Given the description of an element on the screen output the (x, y) to click on. 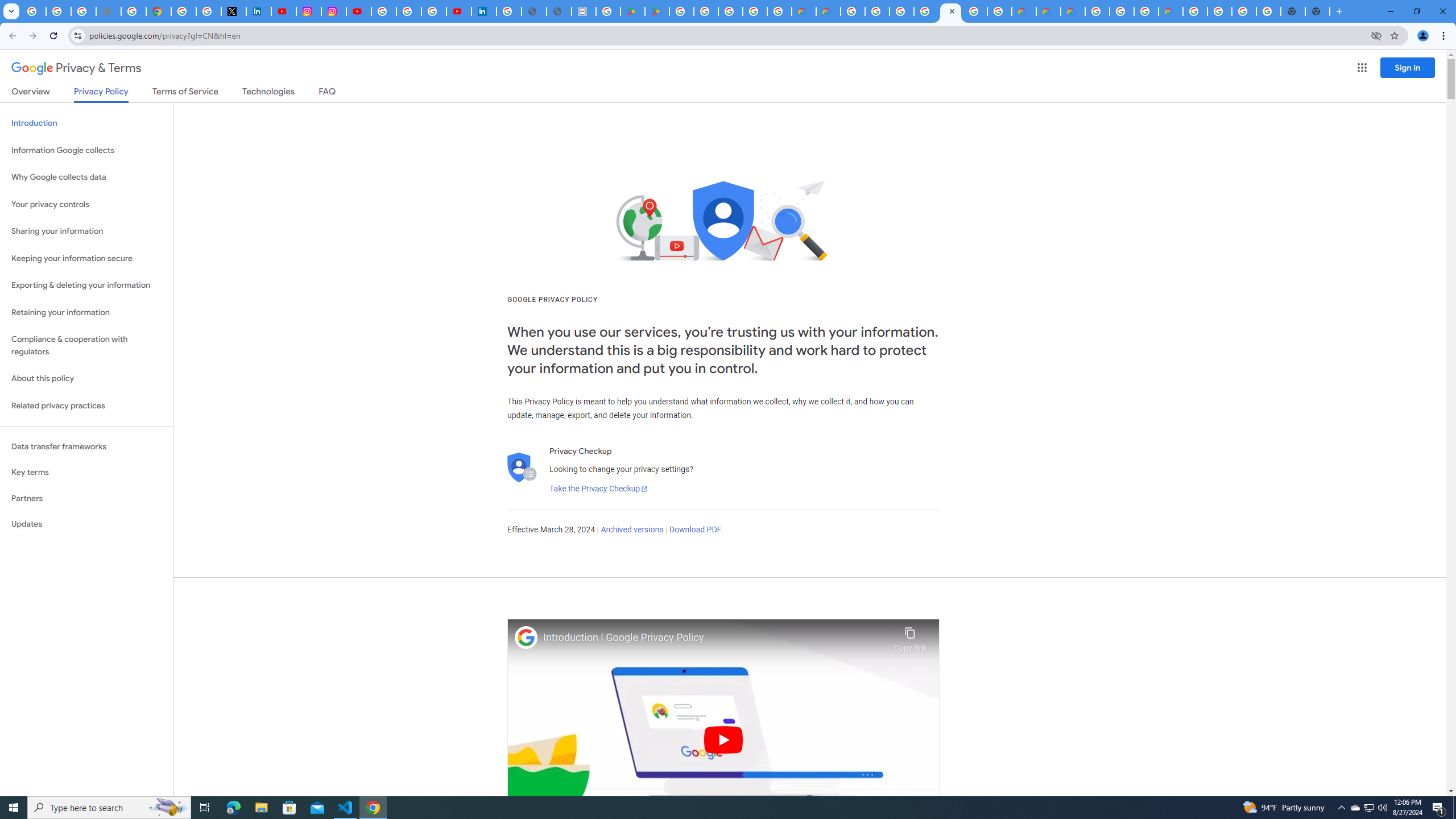
Introduction (86, 122)
support.google.com - Network error (108, 11)
Sign in (1407, 67)
Google Workspace - Specific Terms (754, 11)
Minimize (1390, 11)
Google apps (1362, 67)
Why Google collects data (86, 176)
